Given the description of an element on the screen output the (x, y) to click on. 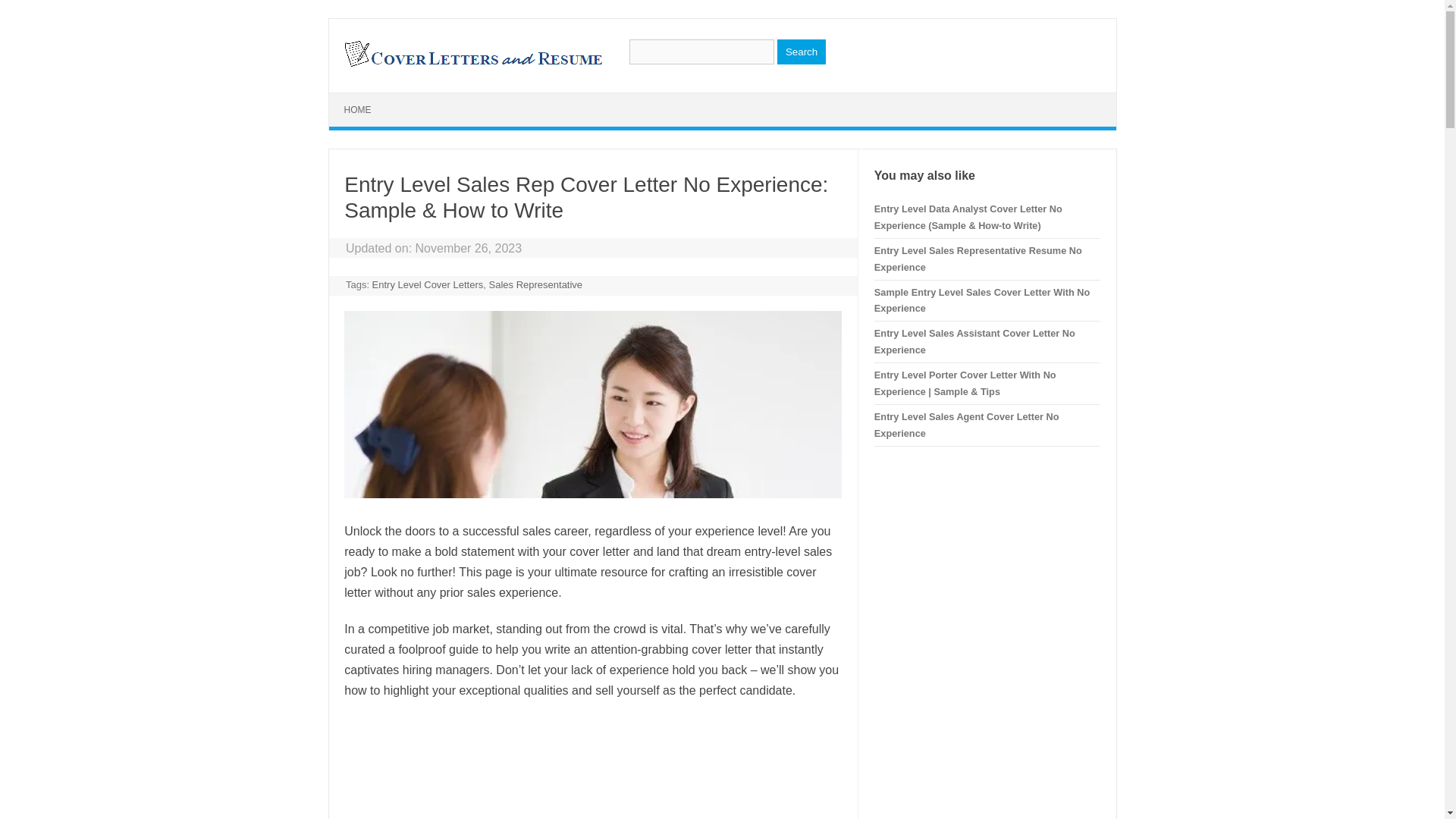
Sales Representative (536, 284)
Advertisement (592, 767)
Cover Letters and Resume Samples (471, 65)
Entry Level Sales Assistant Cover Letter No Experience (975, 341)
Search (801, 51)
Entry Level Cover Letters (427, 284)
Entry Level Sales Agent Cover Letter No Experience (967, 424)
HOME (358, 109)
Entry Level Sales Representative Resume No Experience (978, 258)
